Given the description of an element on the screen output the (x, y) to click on. 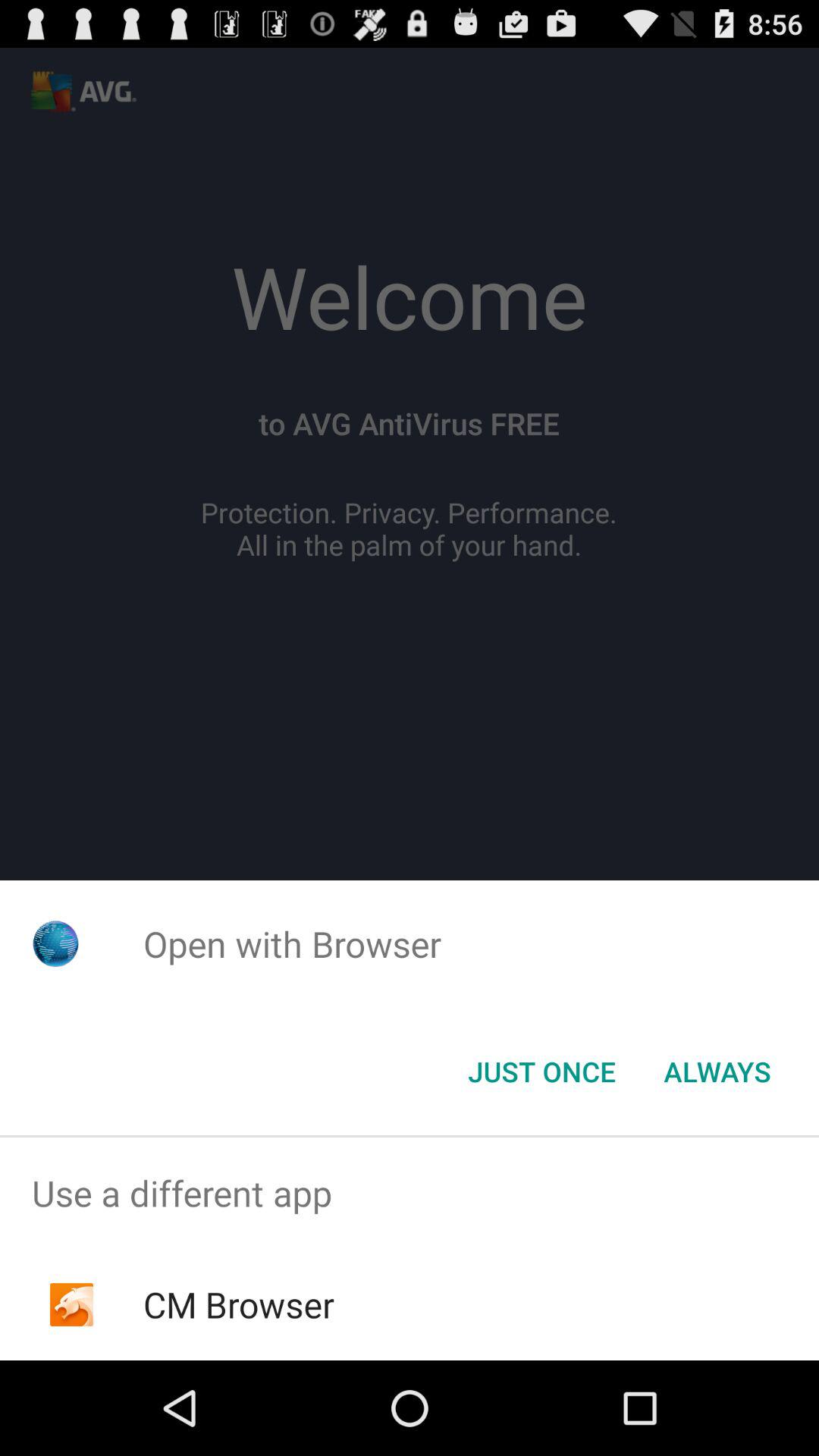
select the item below open with browser item (541, 1071)
